Given the description of an element on the screen output the (x, y) to click on. 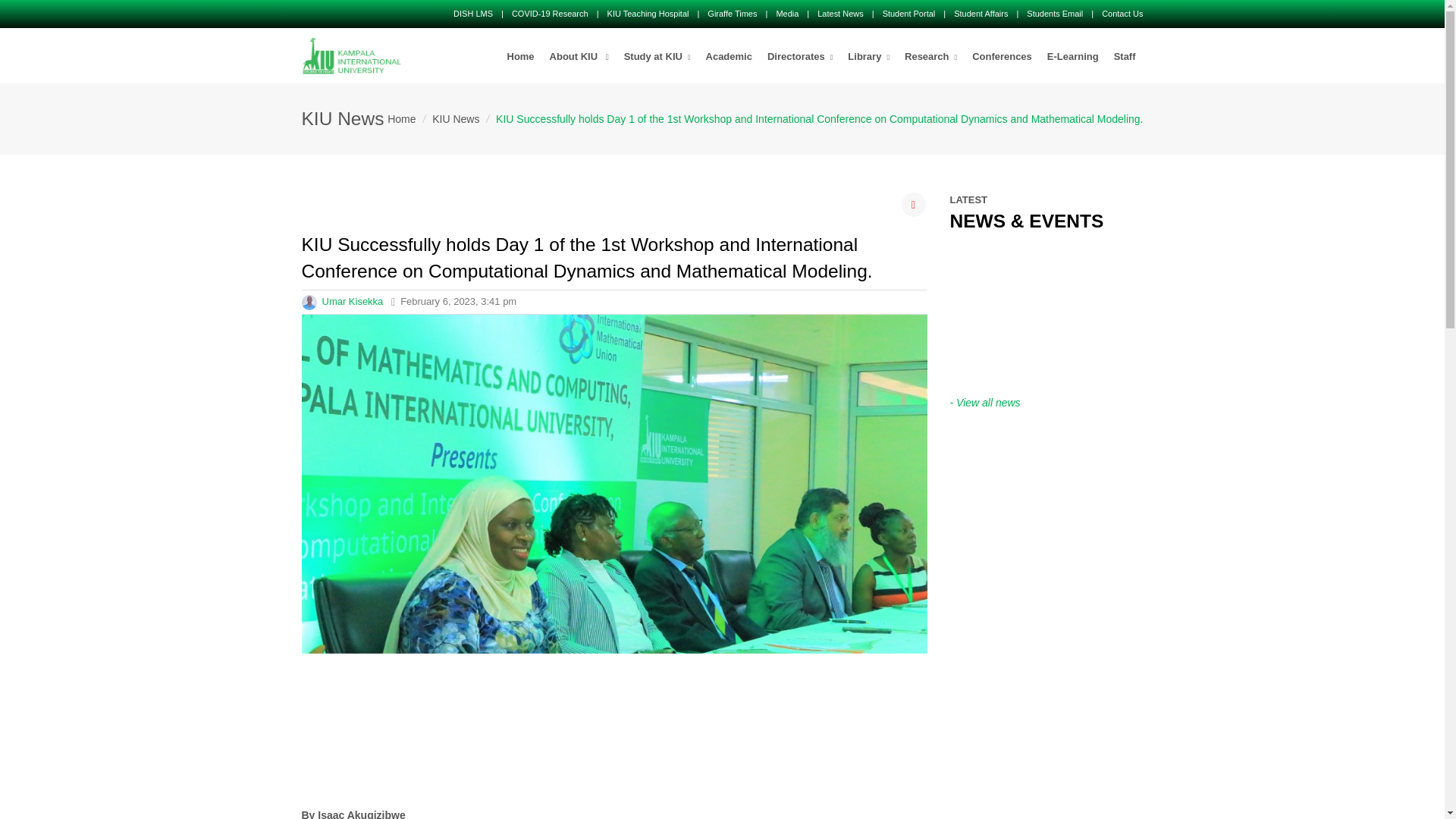
Contact Us (1122, 13)
KIU Teaching Hospital (647, 13)
COVID-19 Research (550, 13)
Latest News (839, 13)
Student Affairs (980, 13)
Academic (729, 57)
Giraffe Times (732, 13)
About KIU (579, 57)
Directorates (799, 57)
Student Portal (909, 13)
